Given the description of an element on the screen output the (x, y) to click on. 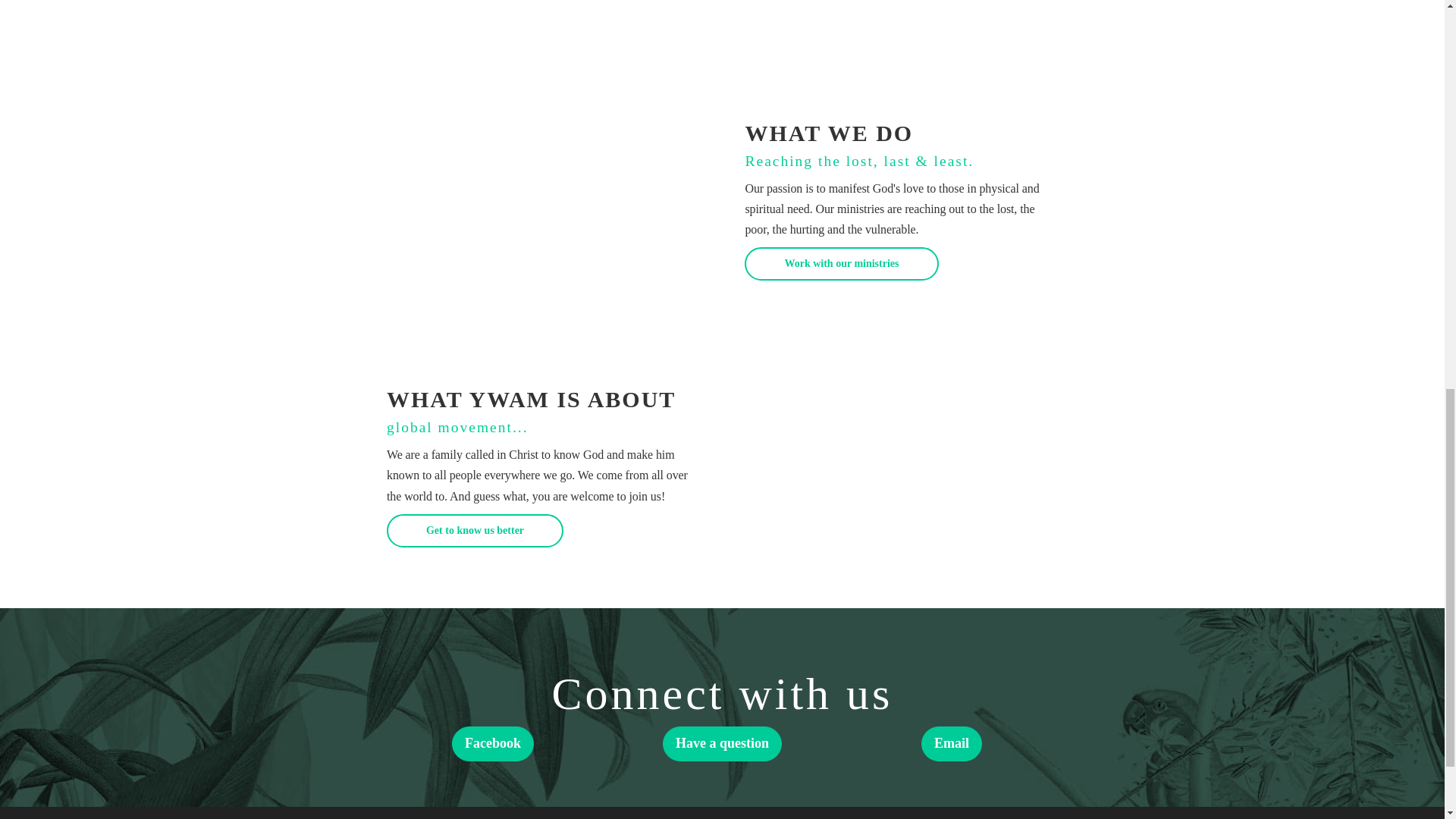
Work with our ministries (840, 263)
Get to know us better (475, 530)
Email (951, 743)
Have a question (721, 743)
Facebook (492, 743)
